Given the description of an element on the screen output the (x, y) to click on. 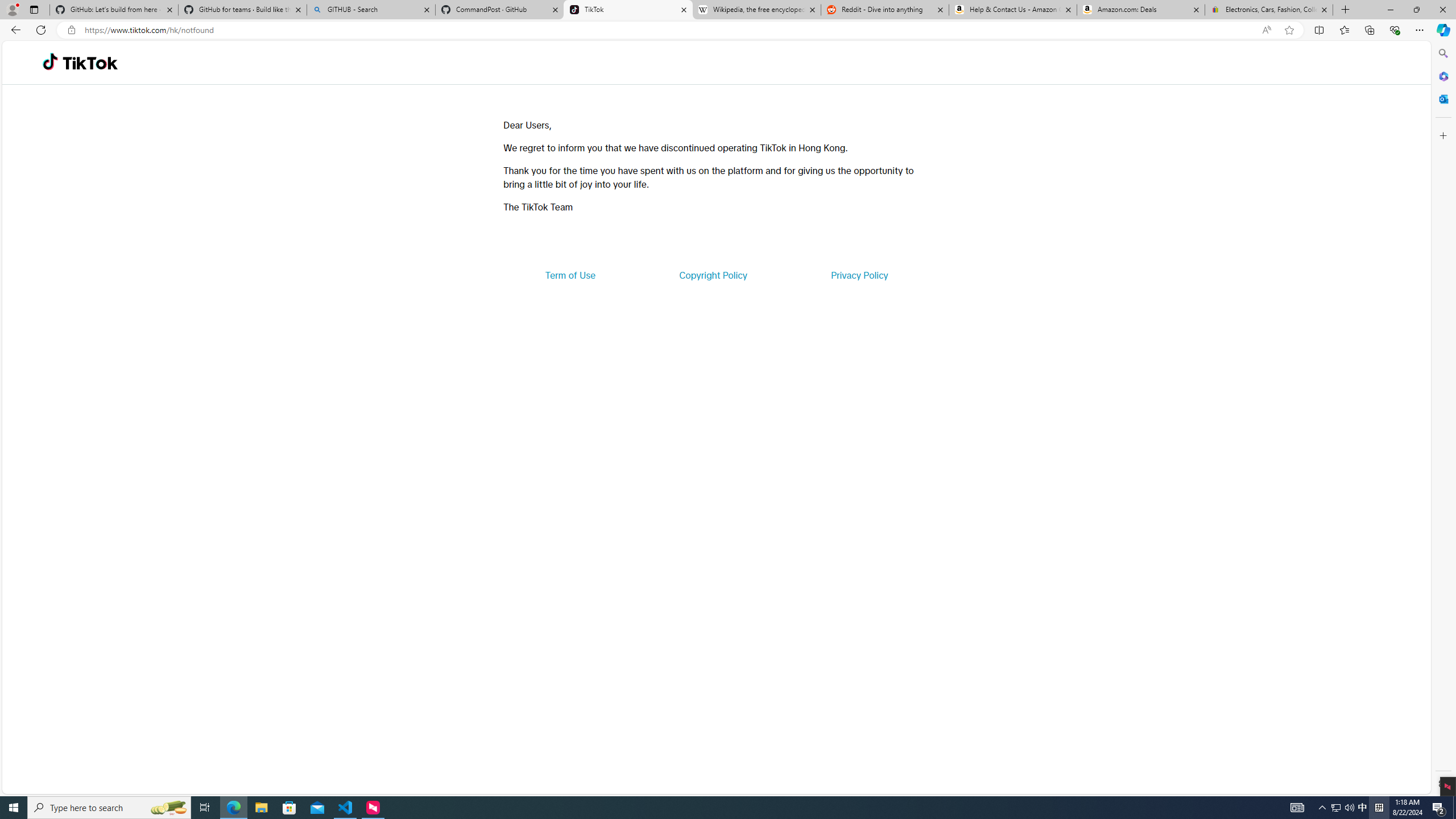
GITHUB - Search (370, 9)
